Given the description of an element on the screen output the (x, y) to click on. 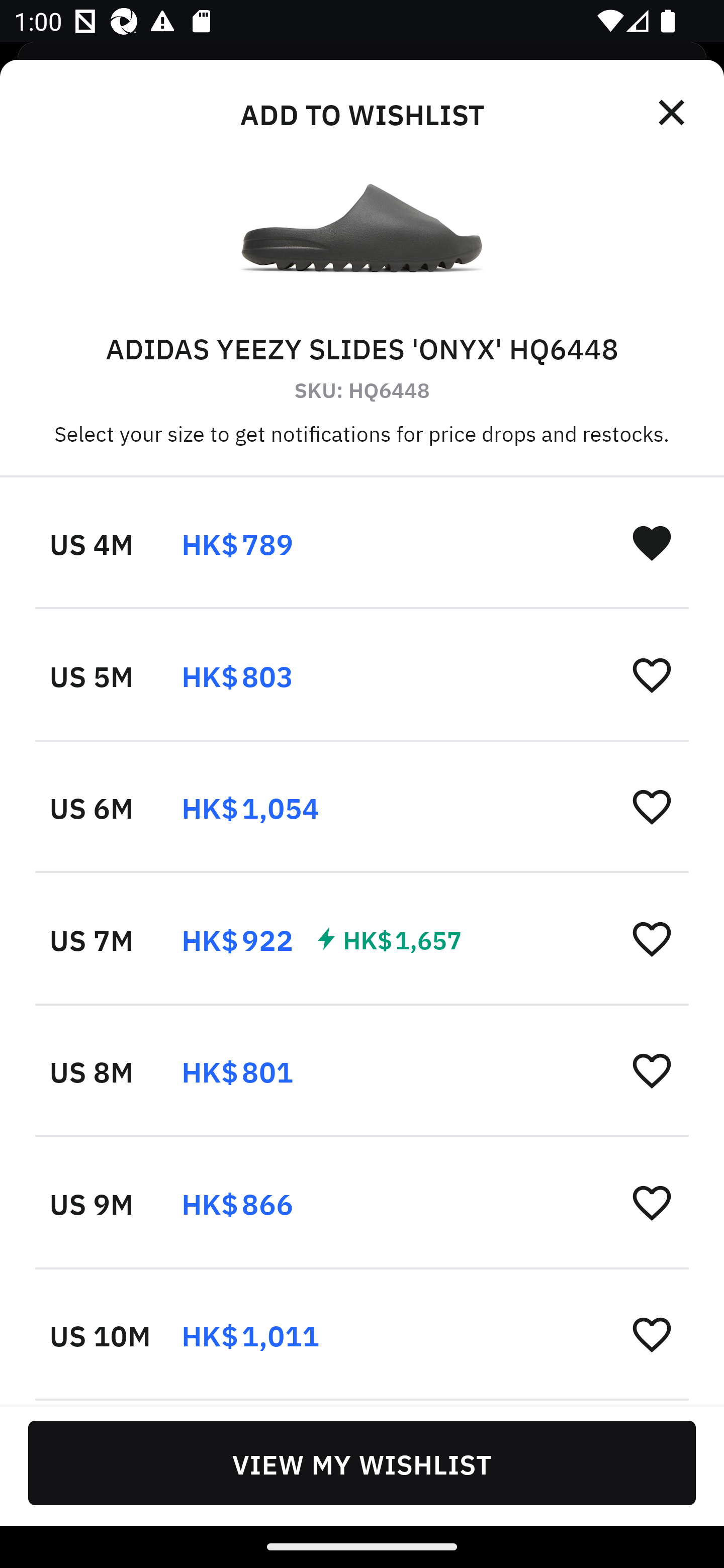
 (672, 112)
󰋑 (651, 542)
󰋕 (651, 674)
󰋕 (651, 806)
󰋕 (651, 938)
󰋕 (651, 1069)
󰋕 (651, 1201)
󰋕 (651, 1333)
VIEW MY WISHLIST (361, 1462)
